Given the description of an element on the screen output the (x, y) to click on. 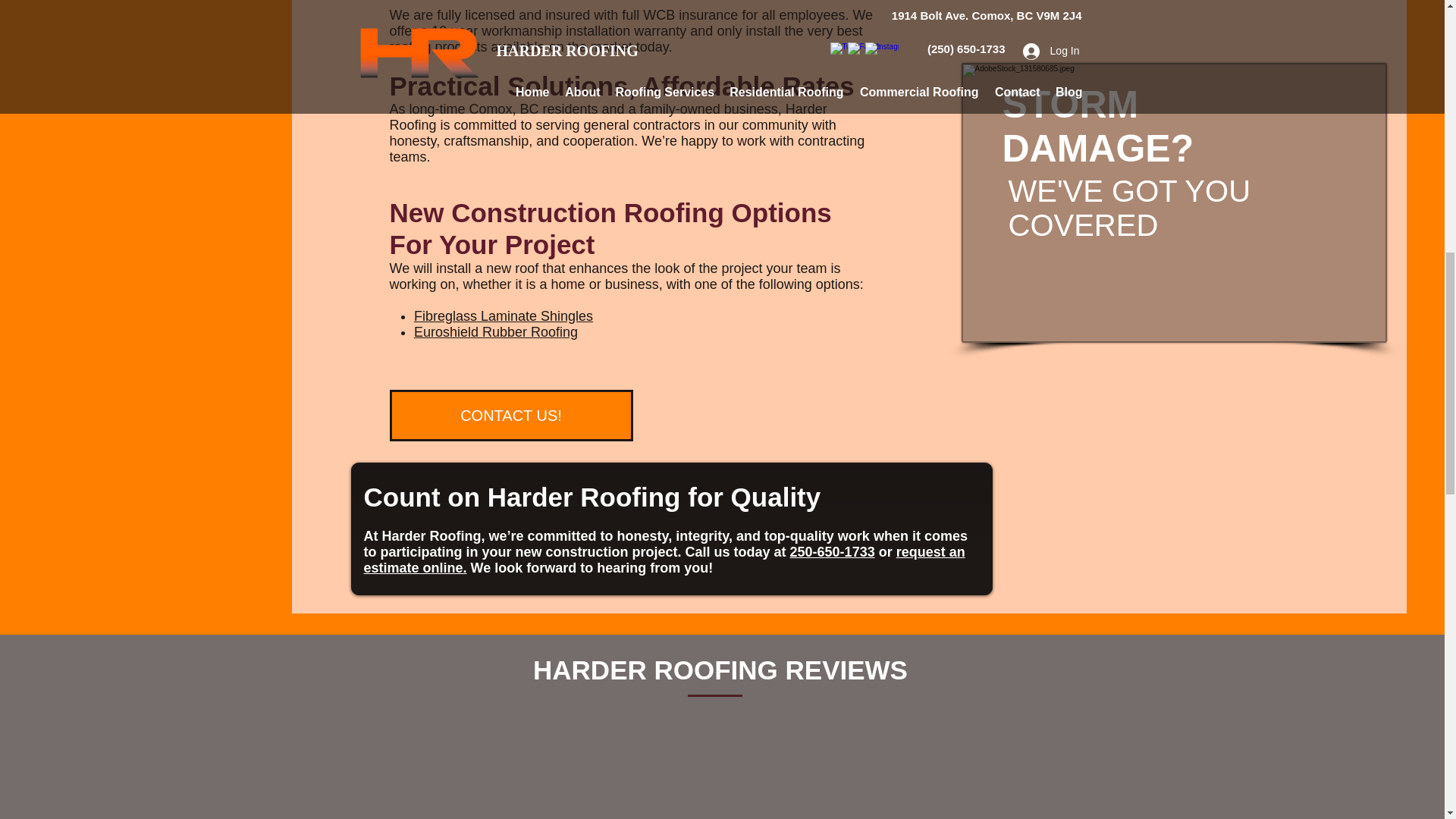
Euroshield Rubber Roofing (495, 331)
request an estimate online. (664, 559)
Fibreglass Laminate Shingles (502, 315)
CONTACT US! (511, 415)
